Given the description of an element on the screen output the (x, y) to click on. 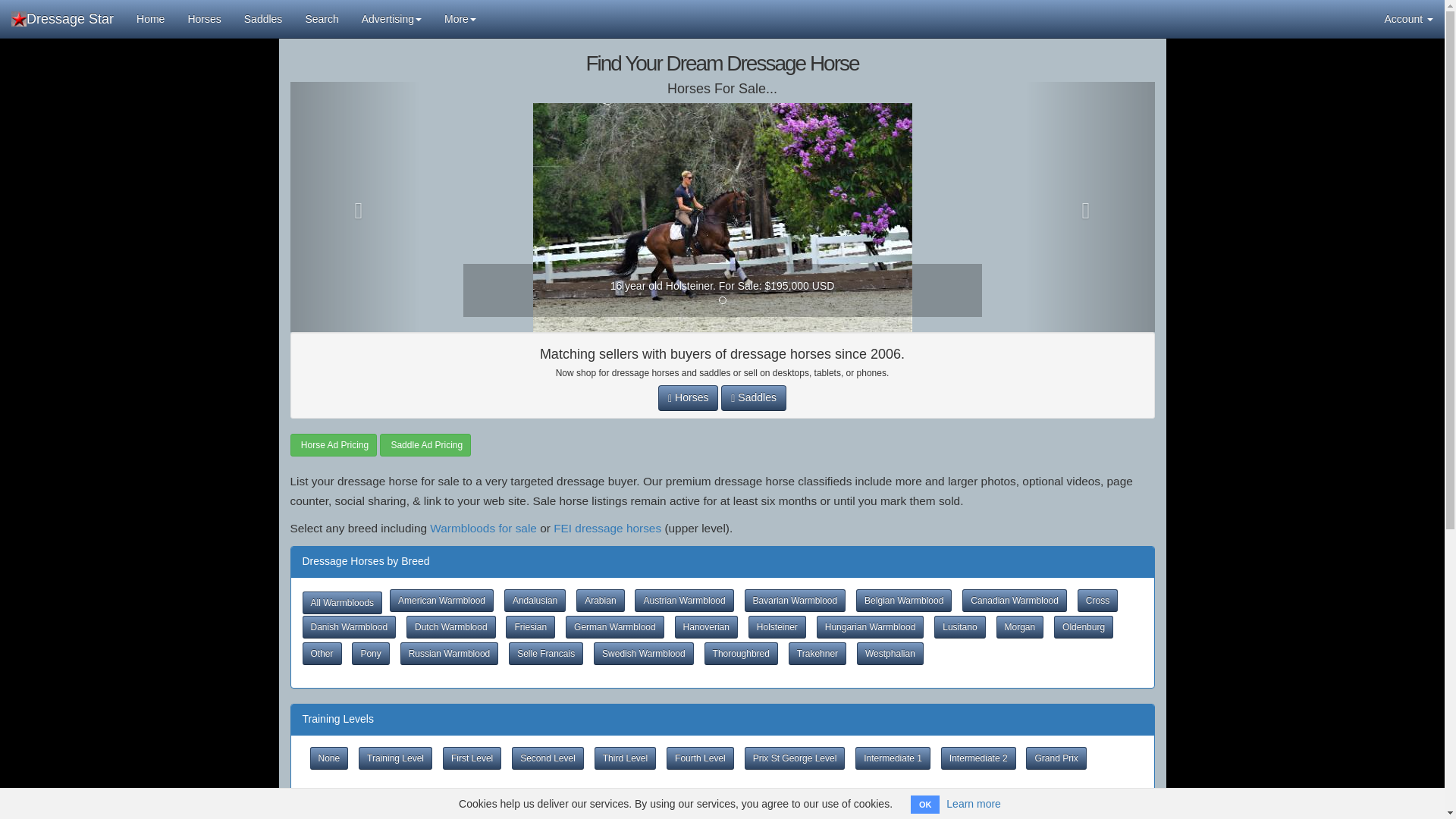
Horse Ad Pricing (333, 445)
Saddles (263, 18)
Canadian Warmblood (1014, 599)
Saddle Ad Pricing (425, 445)
FEI dressage horses (607, 527)
Previous (354, 206)
Next (1089, 206)
Horses (687, 397)
Home (150, 18)
More (459, 18)
Bavarian Warmblood (794, 599)
Advertising (391, 18)
Search (321, 18)
American Warmblood (441, 599)
Austrian Warmblood (683, 599)
